Given the description of an element on the screen output the (x, y) to click on. 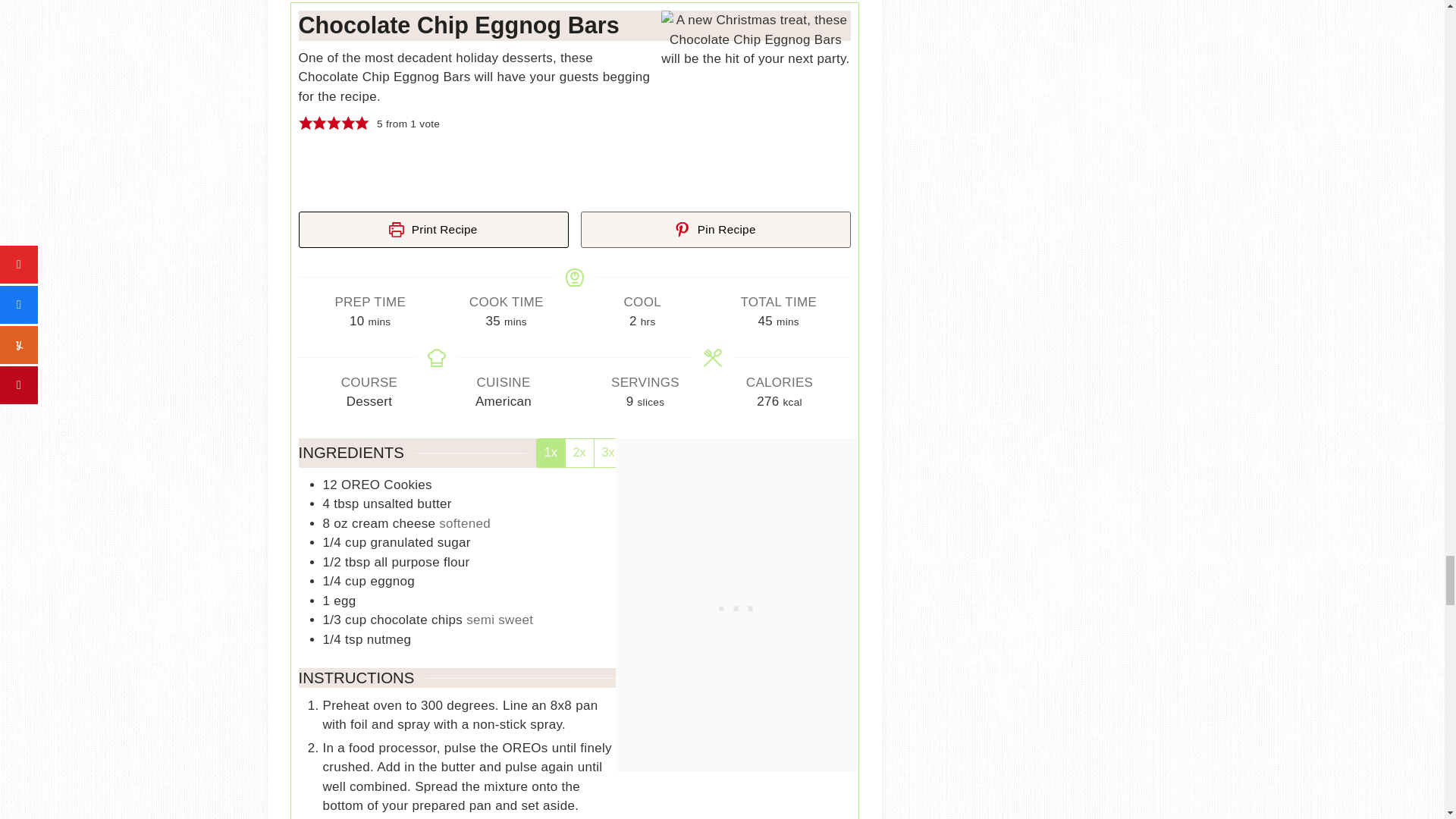
How to make the perfect Chocolate Chip Eggnog Bars 22 (755, 104)
